Given the description of an element on the screen output the (x, y) to click on. 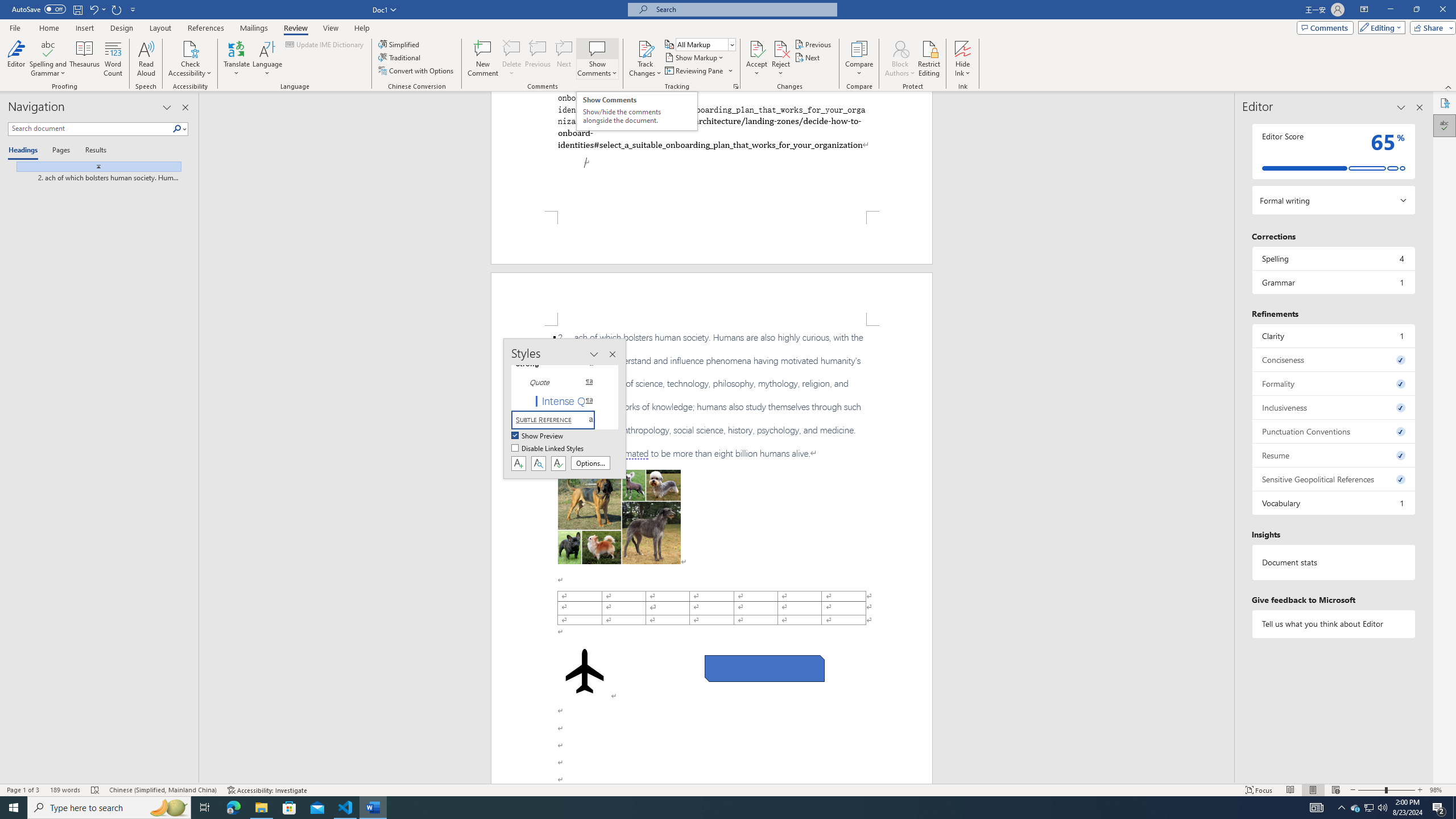
Document statistics (1333, 561)
Delete (511, 58)
Change Tracking Options... (735, 85)
2. (711, 395)
Vocabulary, 1 issue. Press space or enter to review items. (1333, 502)
Language (267, 58)
Check Accessibility (189, 48)
